Given the description of an element on the screen output the (x, y) to click on. 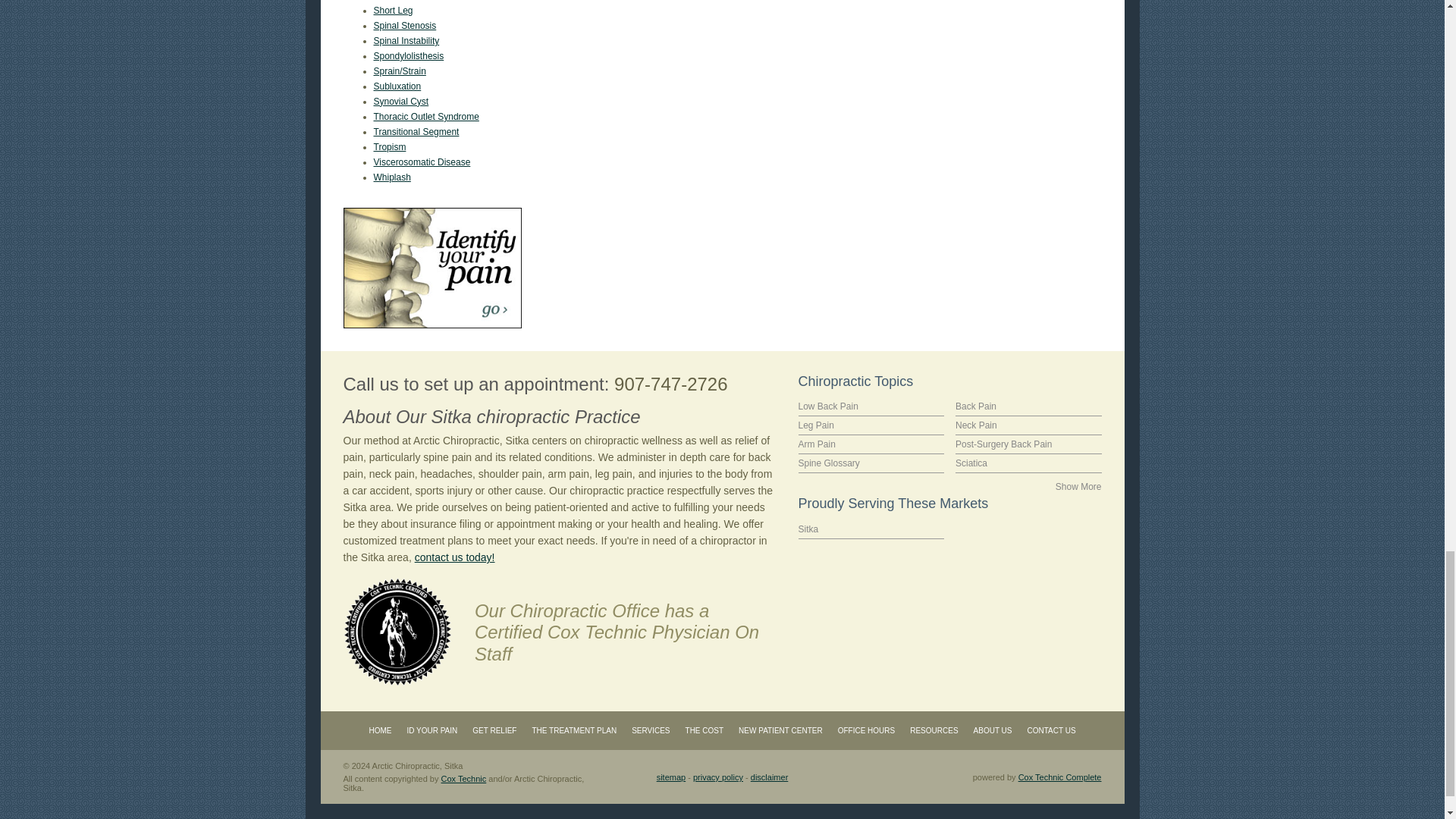
id-your-pain.jpg (431, 268)
